Given the description of an element on the screen output the (x, y) to click on. 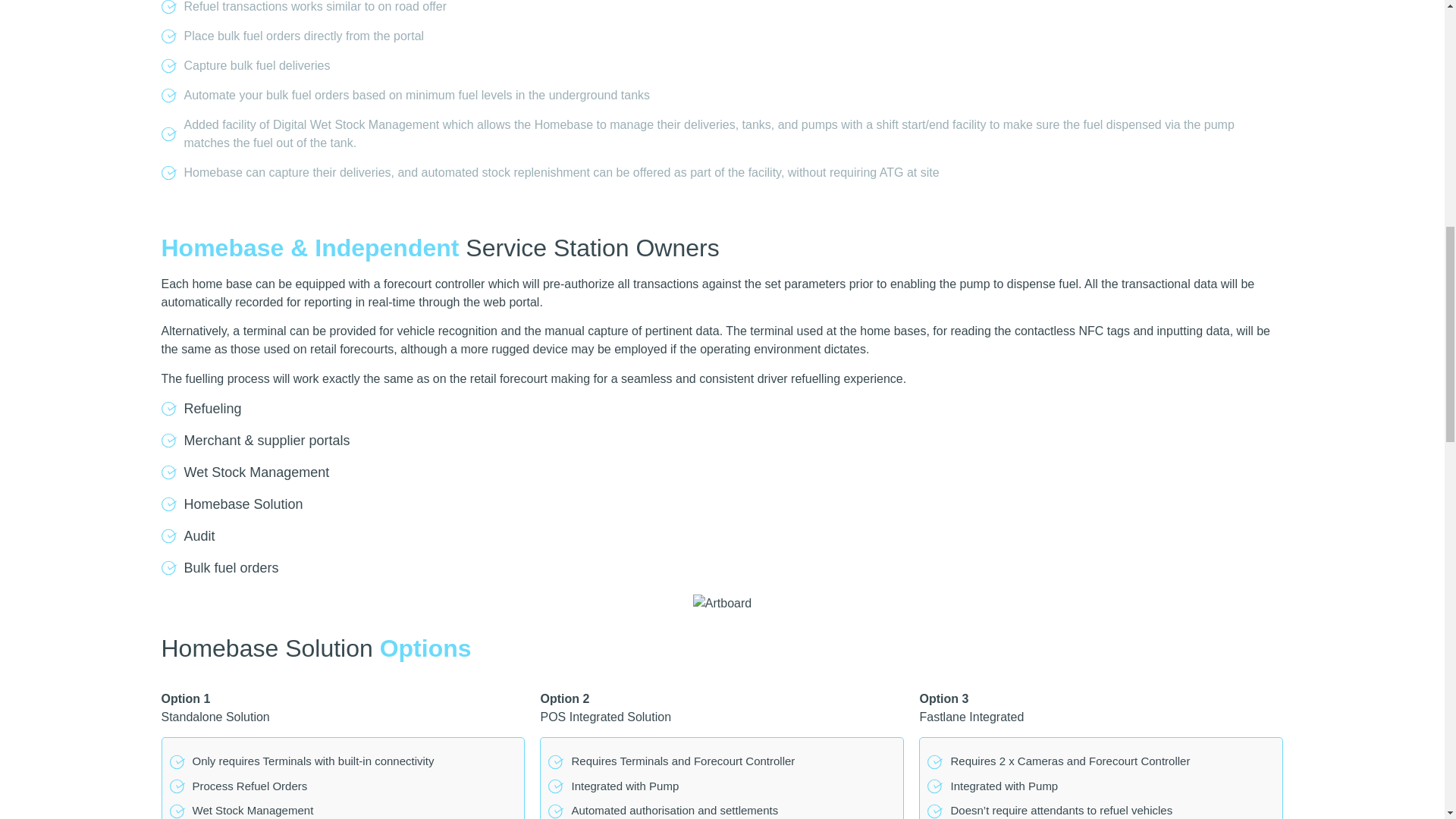
Artboard-12-100 (722, 603)
